Given the description of an element on the screen output the (x, y) to click on. 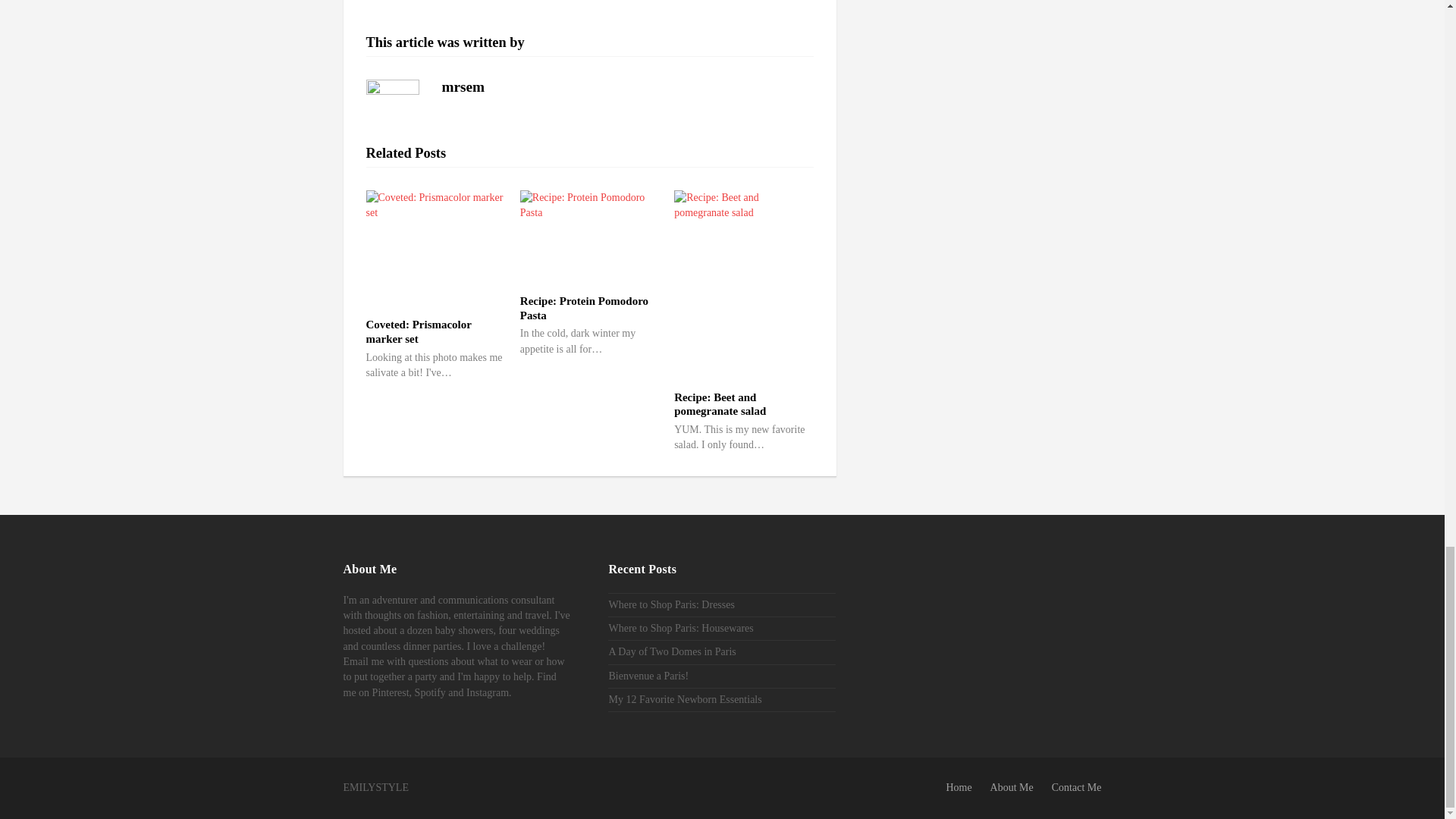
Visit Author Page (392, 105)
Visit Author Page (462, 86)
